Given the description of an element on the screen output the (x, y) to click on. 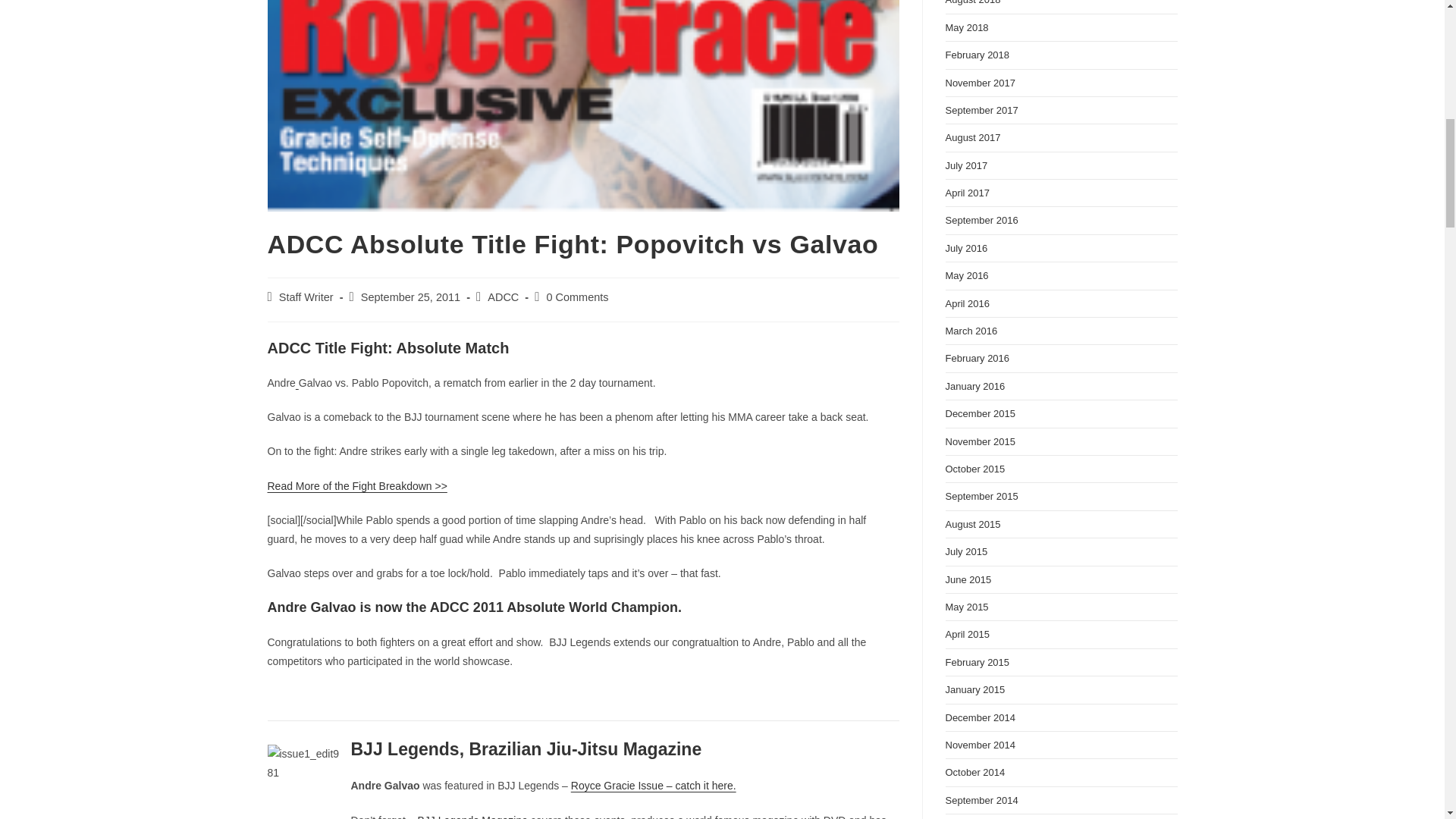
Posts by Staff Writer (306, 297)
